Given the description of an element on the screen output the (x, y) to click on. 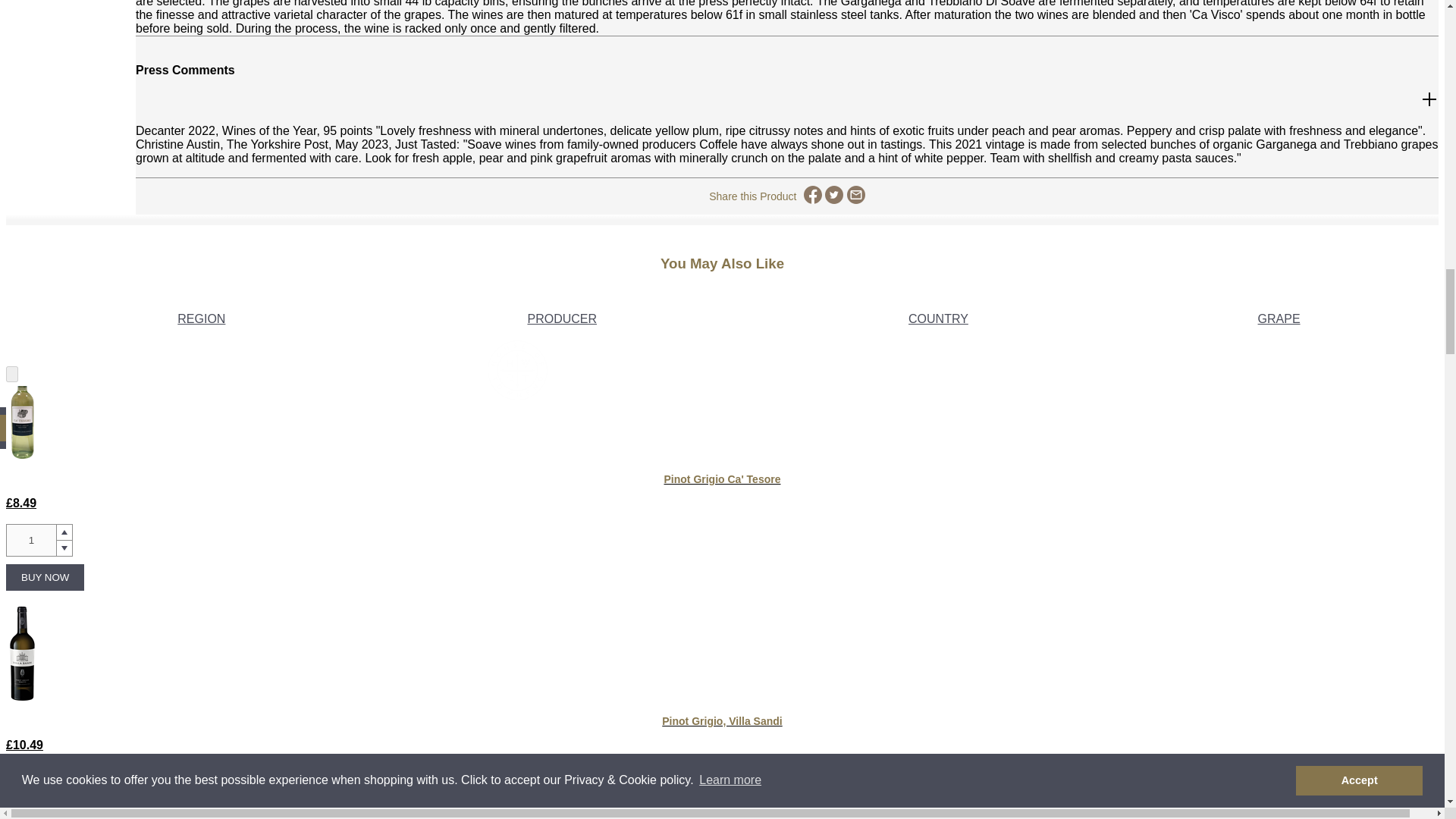
1 (30, 540)
1 (30, 781)
